Given the description of an element on the screen output the (x, y) to click on. 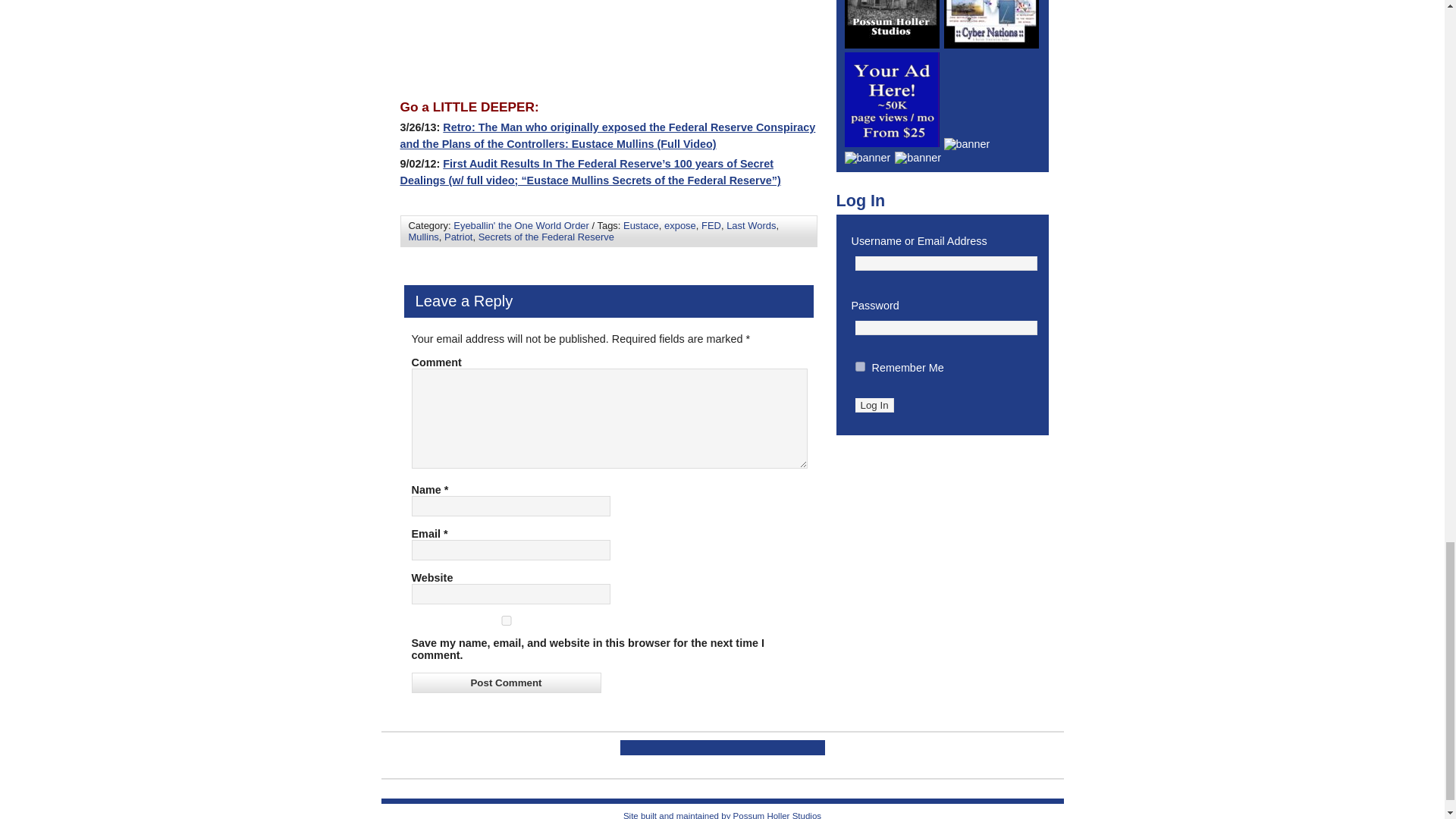
FED (710, 225)
Patriot (457, 236)
Mullins (422, 236)
Post Comment (504, 682)
Secrets of the Federal Reserve (546, 236)
Eustace (641, 225)
Eyeballin' the One World Order (520, 225)
forever (860, 366)
expose (679, 225)
yes (504, 620)
Log In (874, 405)
Last Words (751, 225)
Post Comment (504, 682)
